Given the description of an element on the screen output the (x, y) to click on. 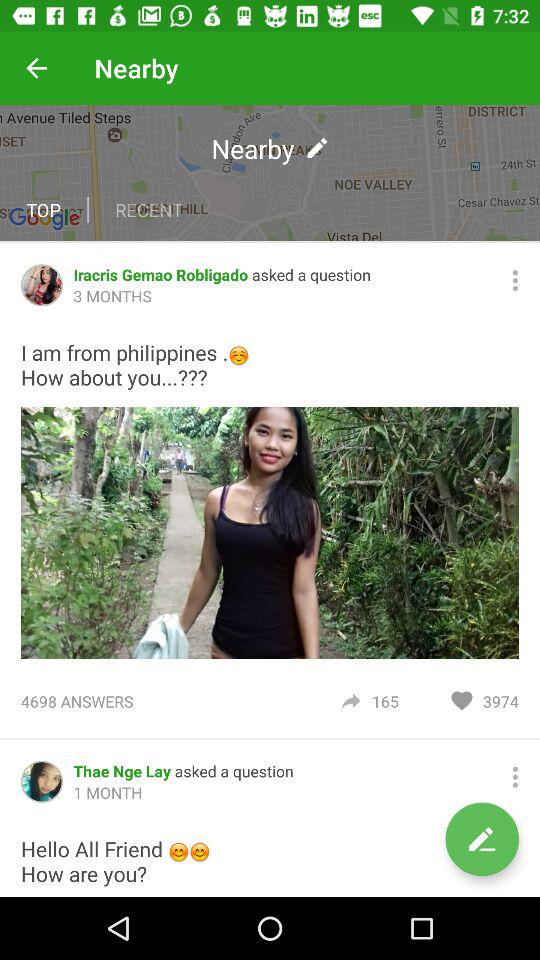
swipe to recent item (148, 209)
